Given the description of an element on the screen output the (x, y) to click on. 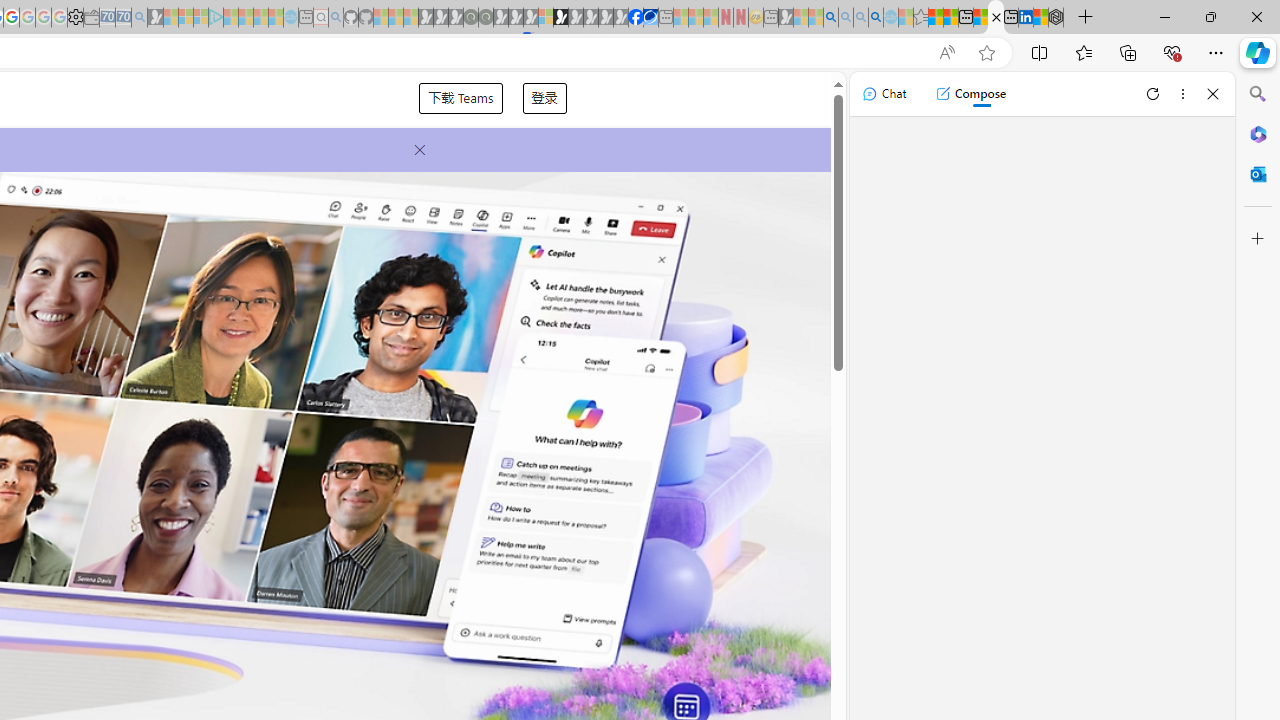
AQI & Health | AirNow.gov (650, 17)
MSN - Sleeping (786, 17)
Favorites - Sleeping (920, 17)
Bing AI - Search (831, 17)
